Given the description of an element on the screen output the (x, y) to click on. 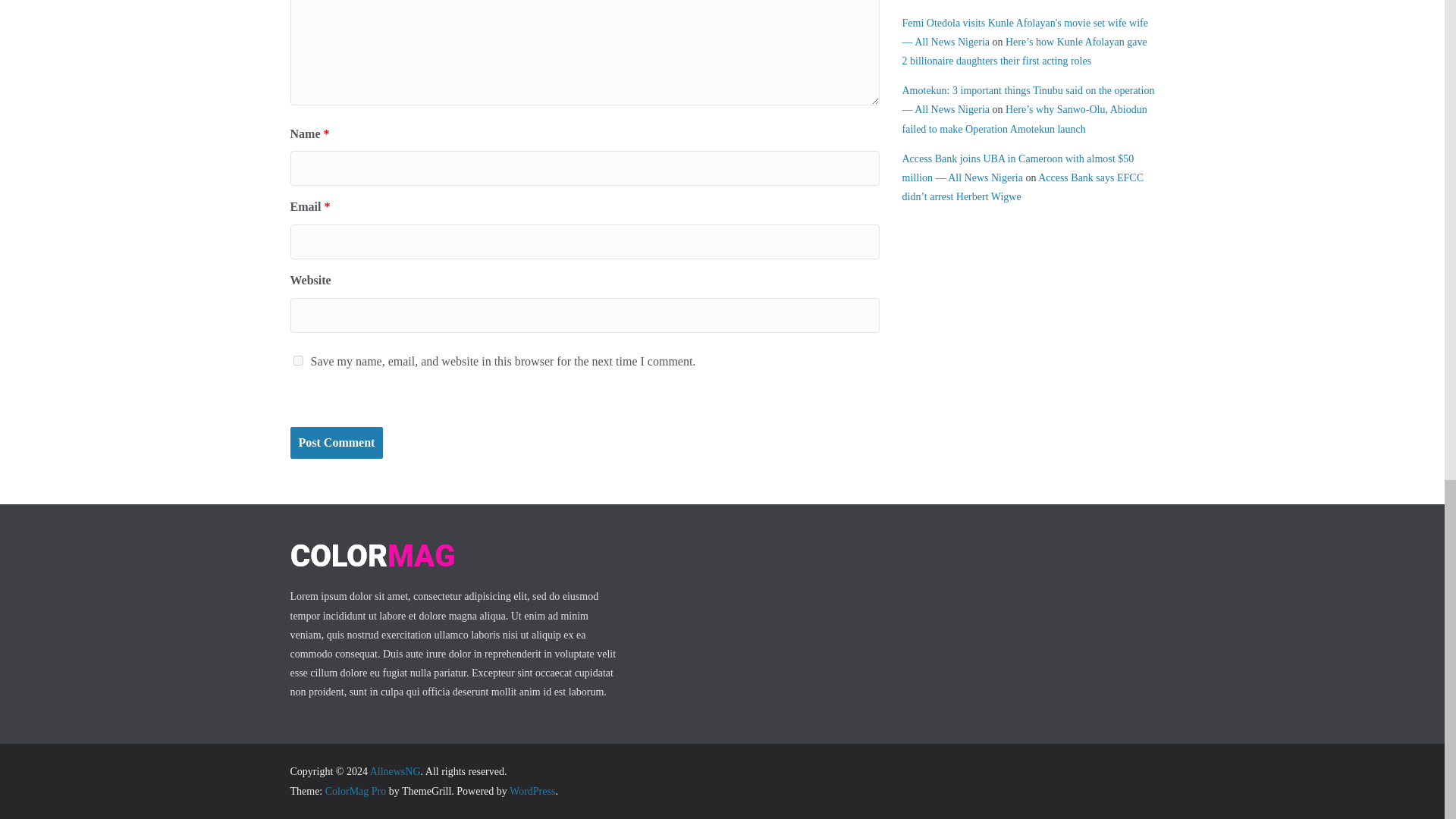
ColorMag Pro (355, 790)
Post Comment (335, 442)
yes (297, 360)
WordPress (531, 790)
AllnewsNG (394, 771)
Post Comment (335, 442)
